Given the description of an element on the screen output the (x, y) to click on. 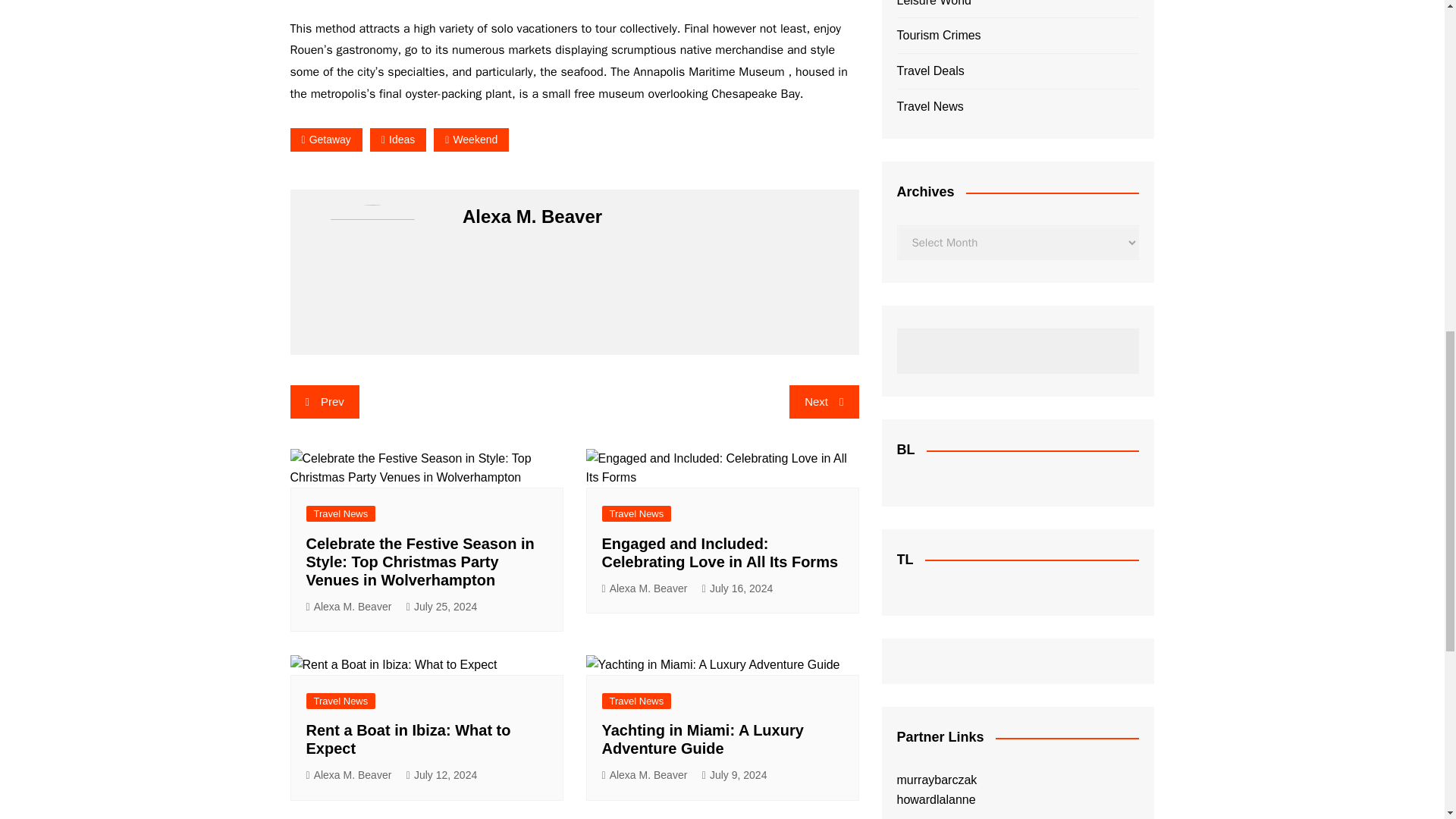
Engaged and Included: Celebrating Love in All Its Forms (722, 467)
Yachting in Miami: A Luxury Adventure Guide (712, 664)
July 16, 2024 (737, 588)
Weekend (470, 139)
Travel News (636, 513)
July 25, 2024 (441, 606)
Travel News (340, 700)
Travel News (340, 513)
Rent a Boat in Ibiza: What to Expect (392, 664)
Alexa M. Beaver (644, 588)
